Given the description of an element on the screen output the (x, y) to click on. 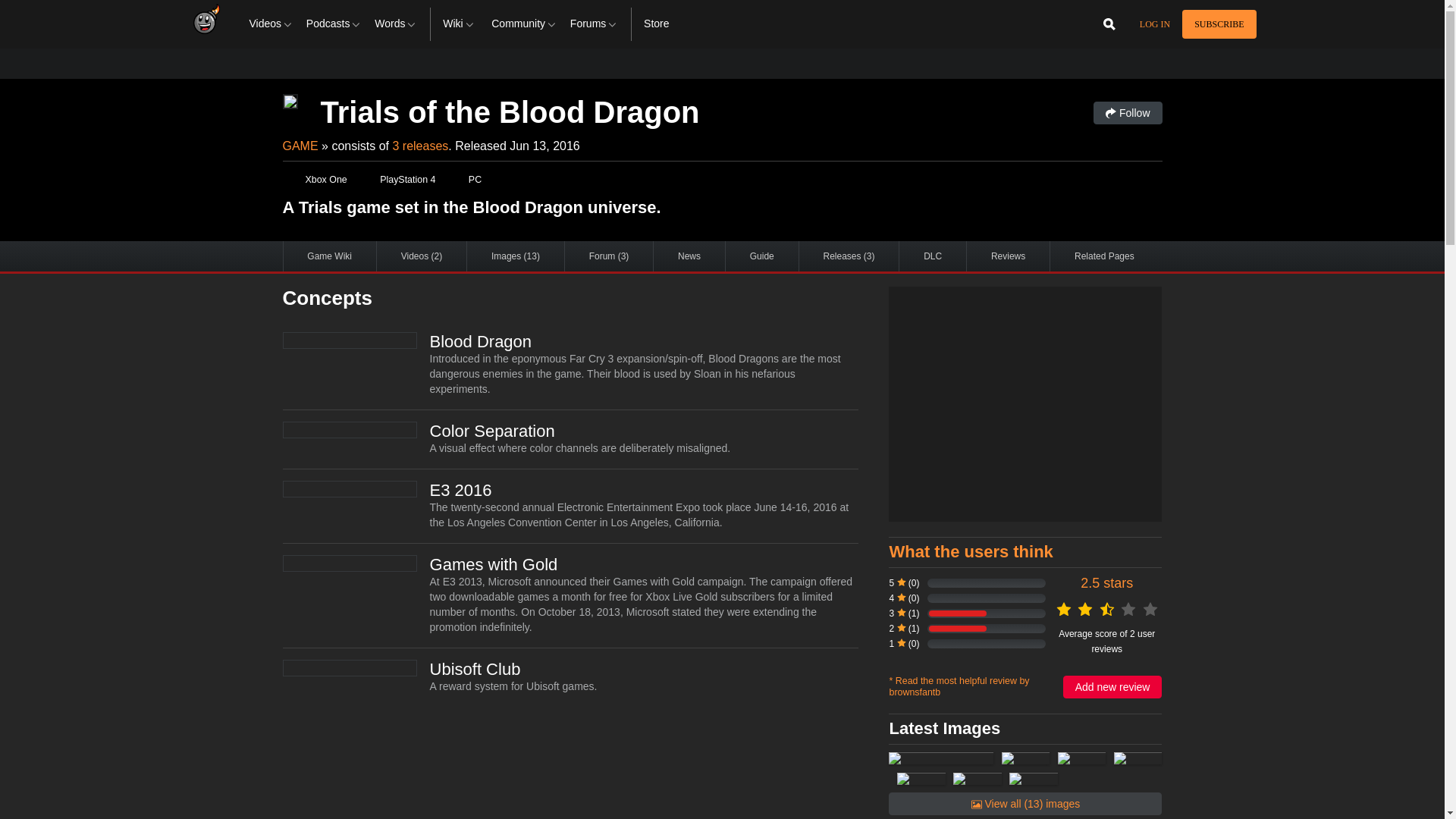
Podcasts (333, 24)
Videos (271, 24)
Words (395, 24)
